Given the description of an element on the screen output the (x, y) to click on. 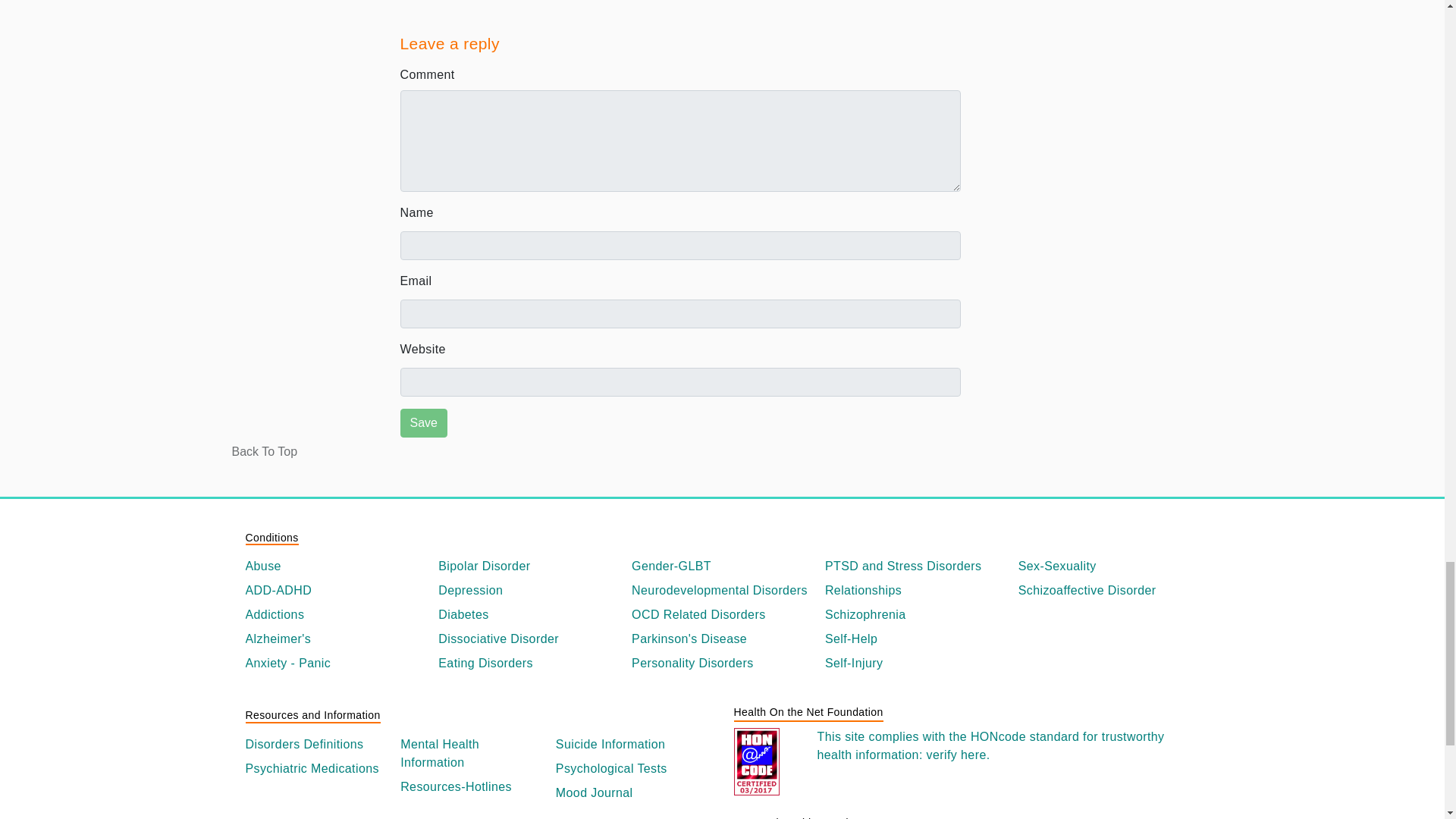
Parkinson's Disease Information Articles (721, 638)
